Given the description of an element on the screen output the (x, y) to click on. 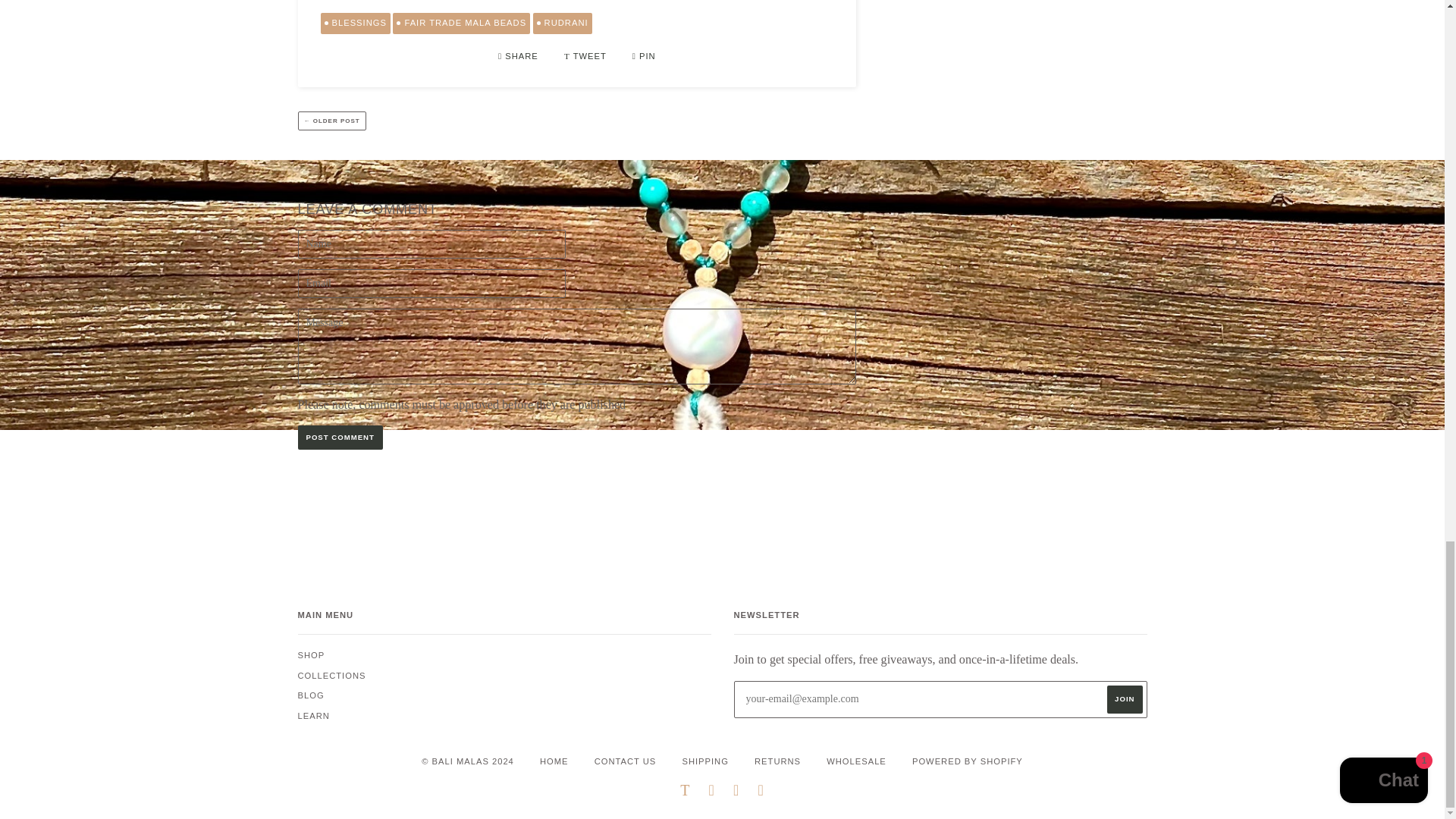
Bali Malas on Facebook (711, 791)
Bali Malas on Twitter (684, 791)
Join (1123, 699)
Post comment (339, 437)
Bali Malas on Pinterest (759, 791)
Bali Malas on Instagram (736, 791)
